Given the description of an element on the screen output the (x, y) to click on. 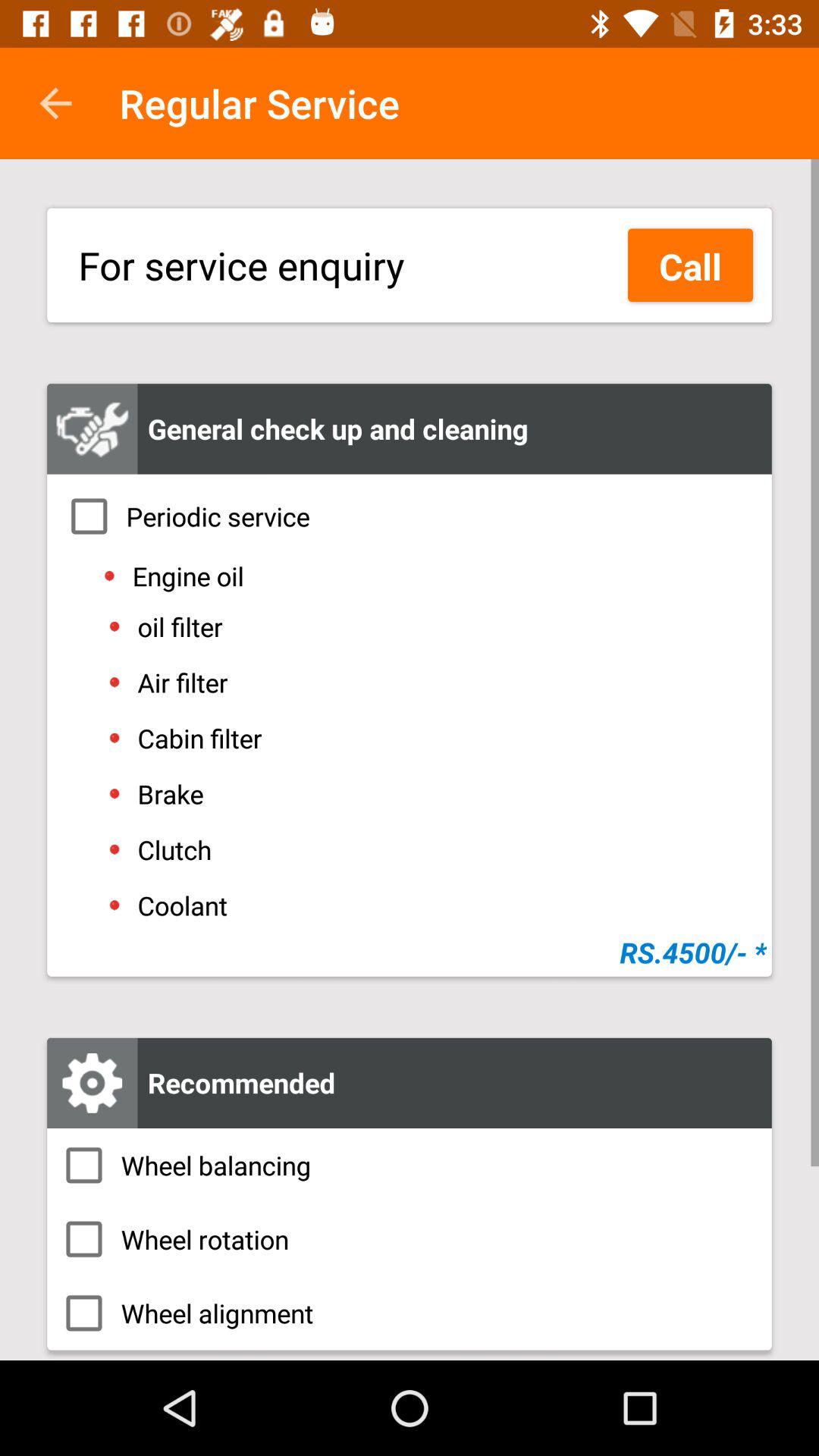
turn on the item to the left of regular service icon (55, 103)
